Given the description of an element on the screen output the (x, y) to click on. 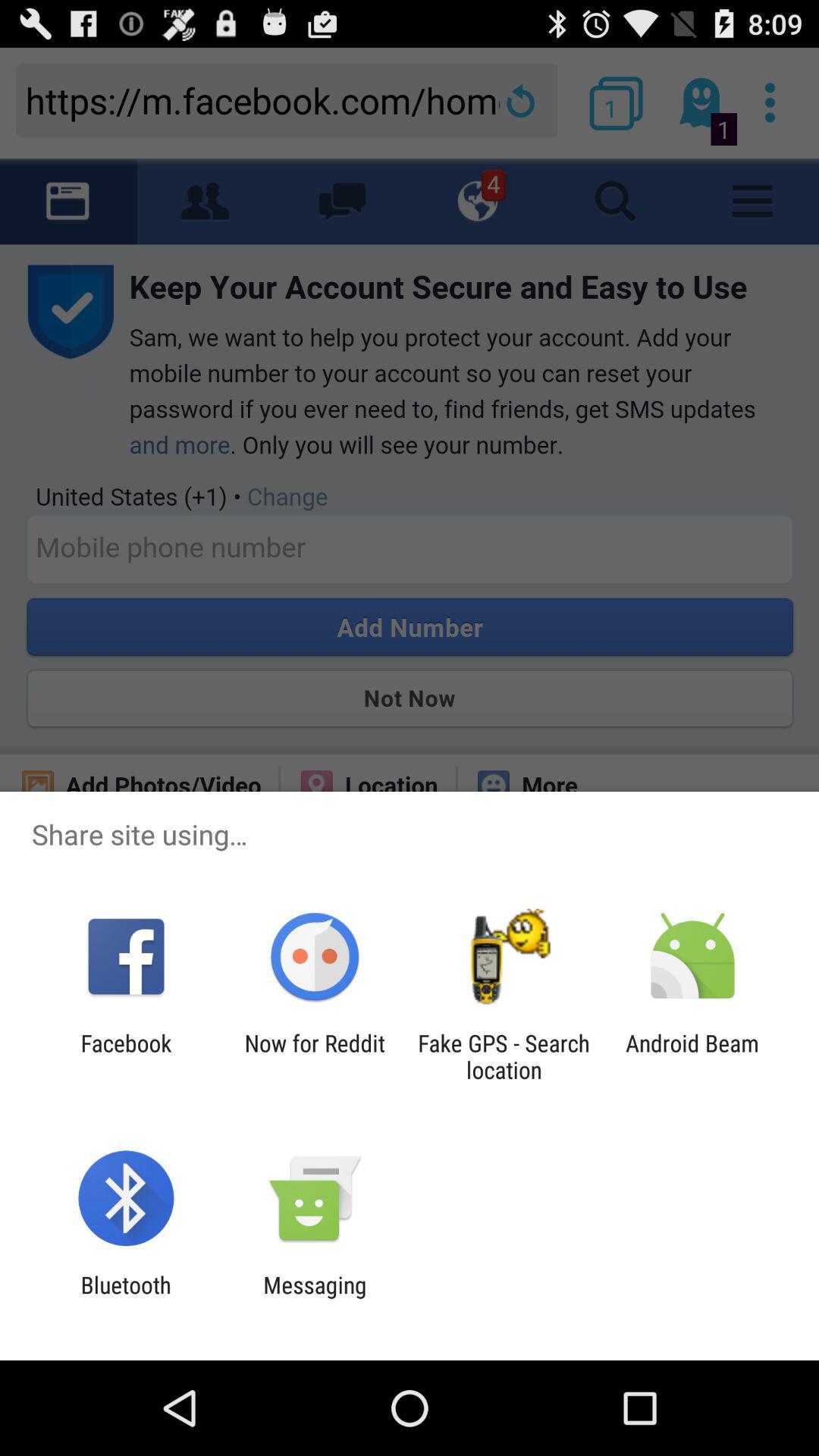
press fake gps search item (503, 1056)
